Given the description of an element on the screen output the (x, y) to click on. 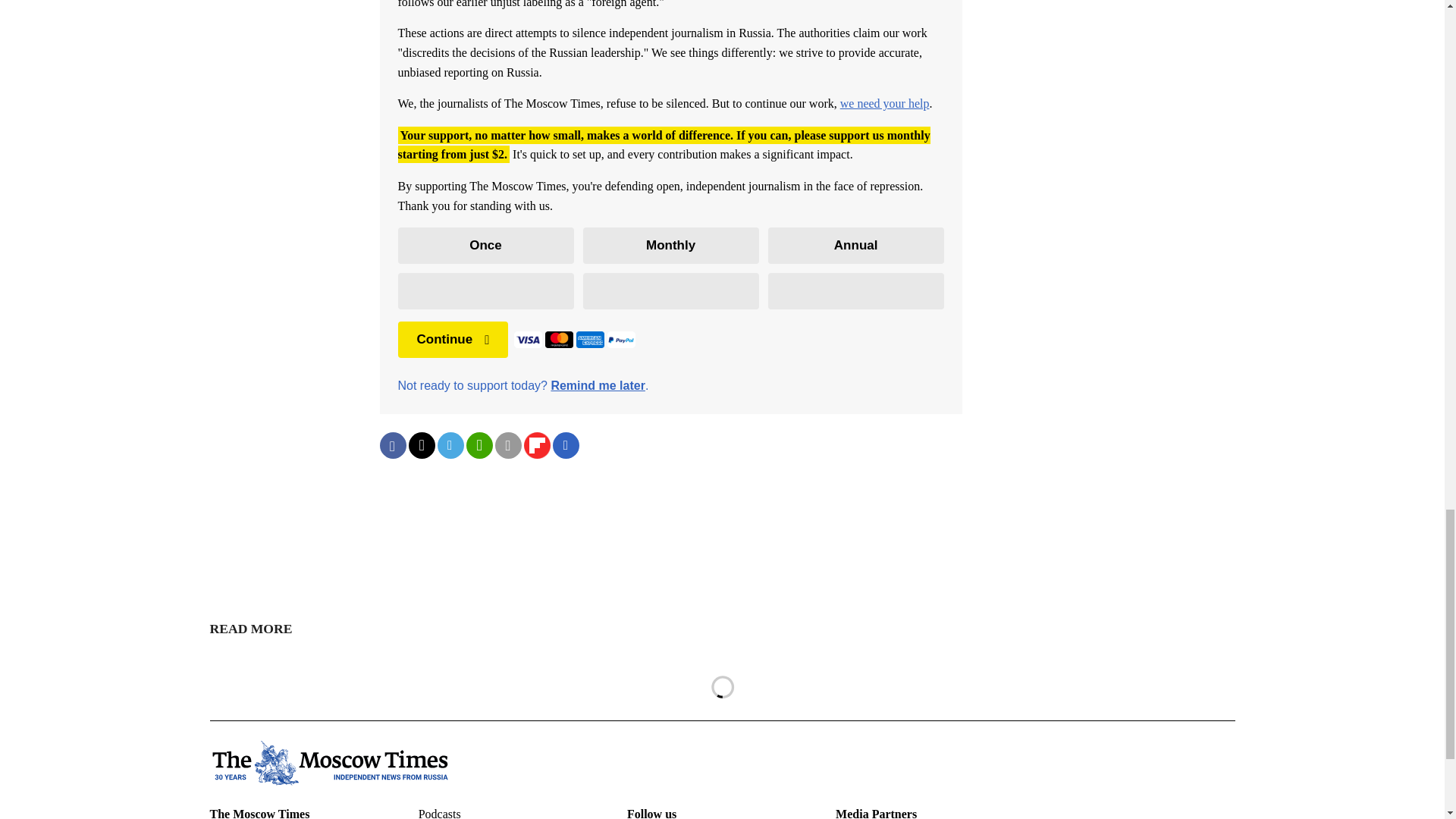
Share on Twitter (420, 445)
we need your help (885, 103)
Share on Telegram (449, 445)
Share on Facebook (392, 445)
Share on Flipboard (536, 445)
